Given the description of an element on the screen output the (x, y) to click on. 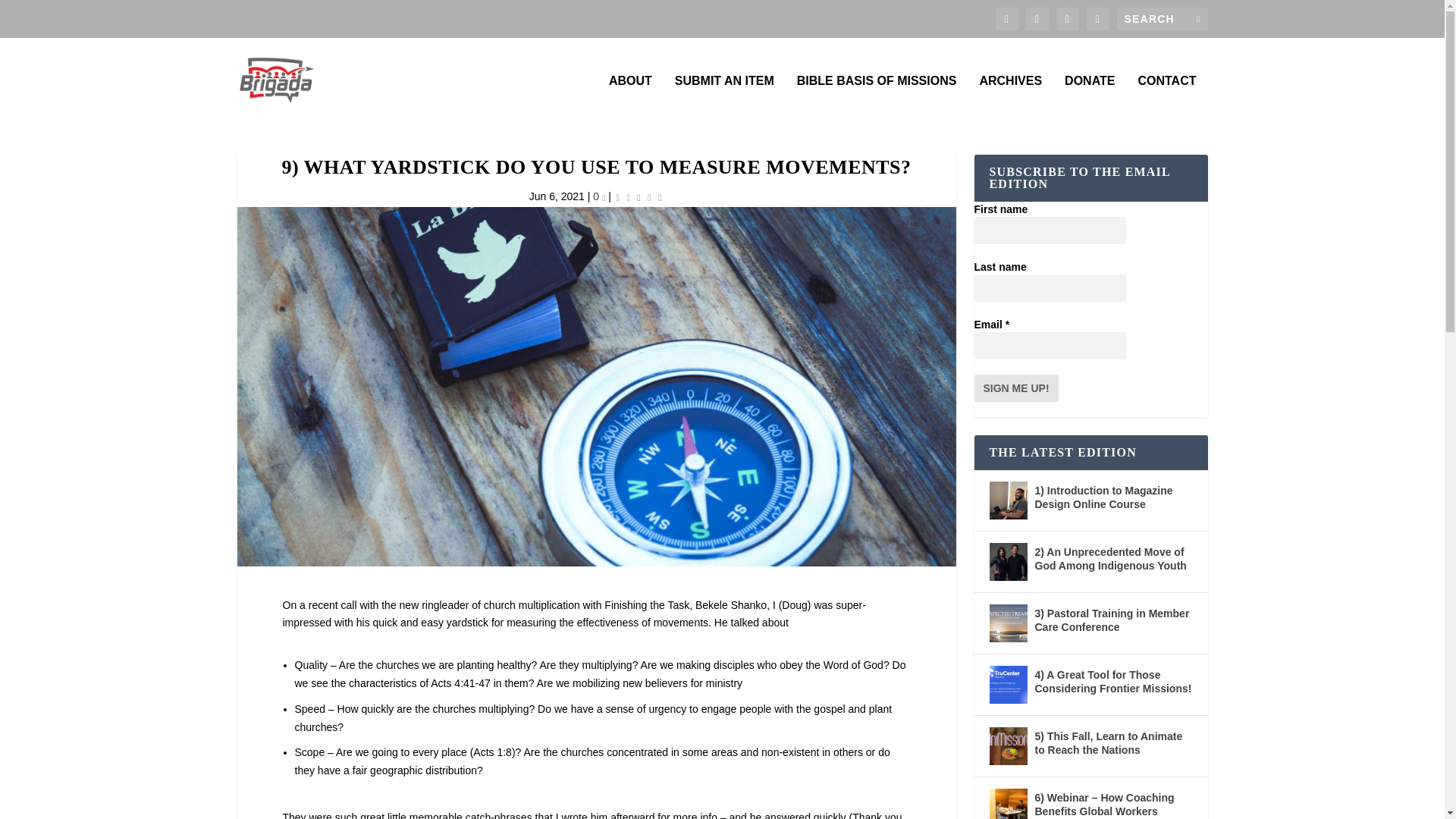
Search for: (1161, 18)
0 (598, 196)
Last name (1049, 288)
First name (1049, 230)
DONATE (1089, 99)
SUBMIT AN ITEM (724, 99)
Rating: 0.00 (638, 197)
CONTACT (1166, 99)
BIBLE BASIS OF MISSIONS (876, 99)
Sign me up! (1016, 388)
